Given the description of an element on the screen output the (x, y) to click on. 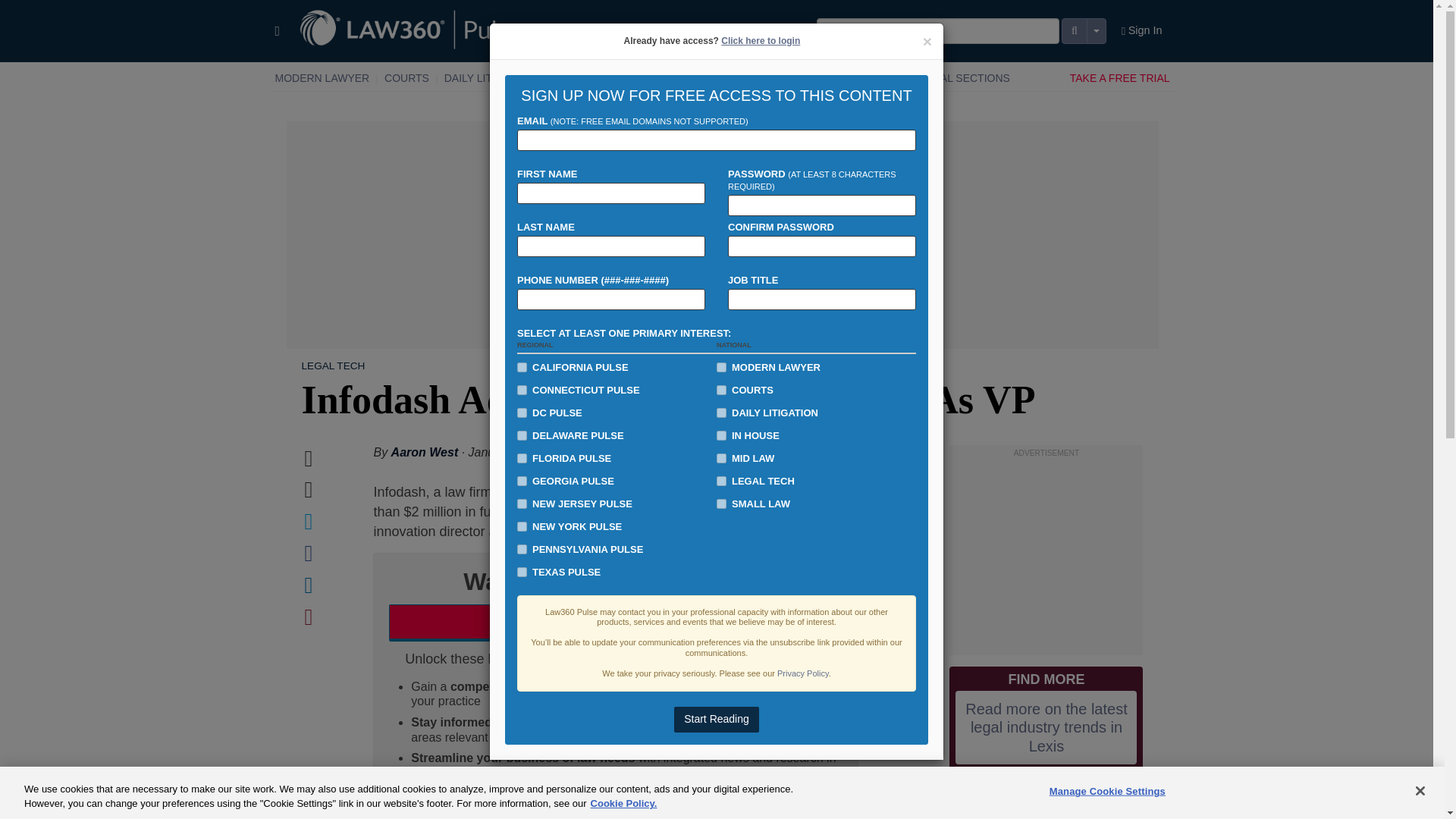
Insights (857, 77)
dc-pulse (521, 412)
courts (721, 389)
modern-lawyer (721, 367)
connecticut-pulse (521, 389)
georgia-pulse (521, 480)
MID-LAW (639, 77)
Daily Litigation (489, 77)
california-pulse (521, 367)
new-york-pulse (521, 526)
GO (13, 7)
DAILY LITIGATION (489, 77)
REGIONAL SECTIONS (954, 77)
COURTS (406, 77)
Mid-Law (639, 77)
